Given the description of an element on the screen output the (x, y) to click on. 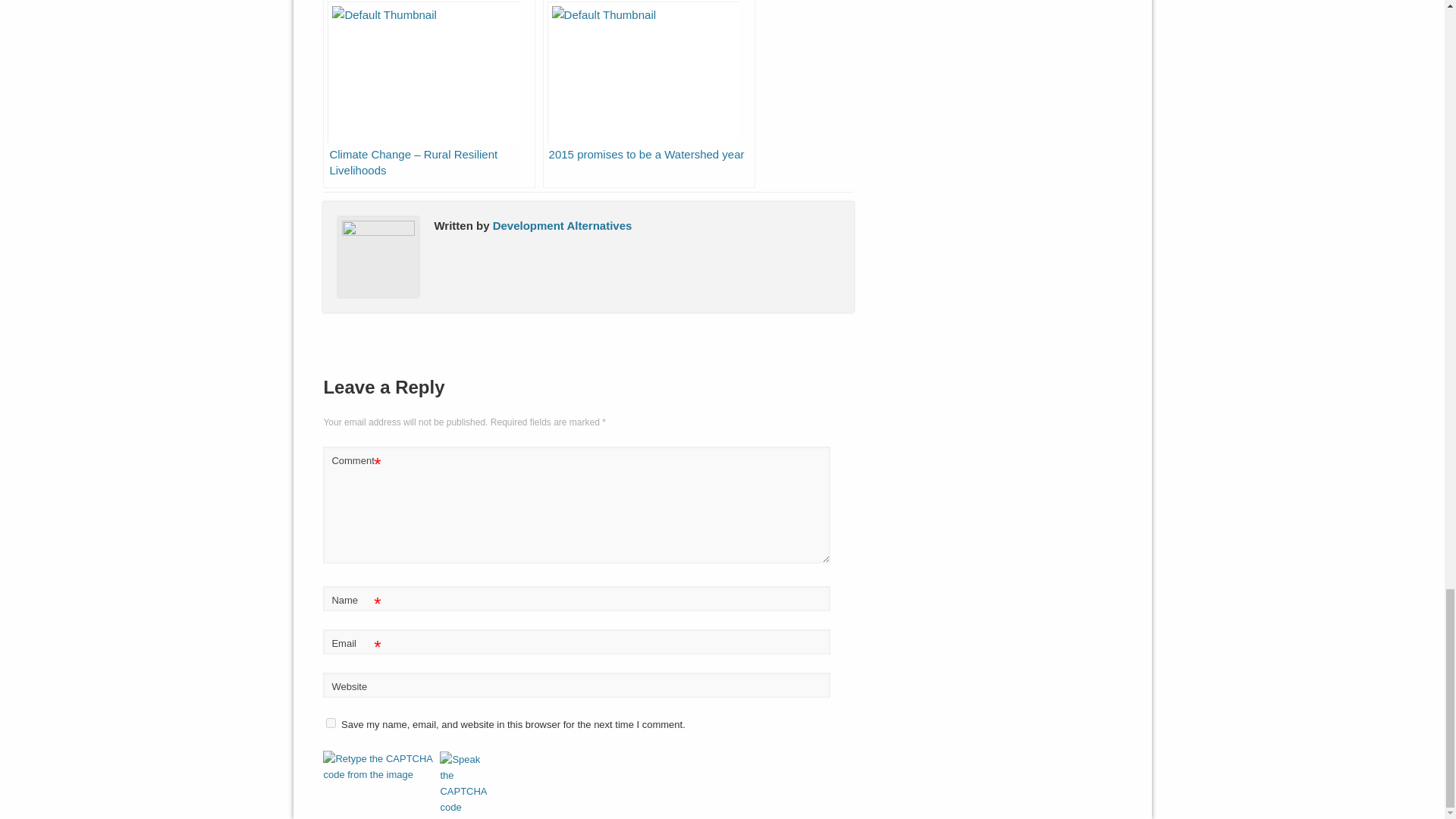
2015 promises to be a Watershed year (649, 94)
yes (331, 723)
Posts by Development Alternatives (562, 225)
Development Alternatives (562, 225)
BotDetect WP CAPTCHA (379, 766)
2015 promises to be a Watershed year (649, 94)
